Given the description of an element on the screen output the (x, y) to click on. 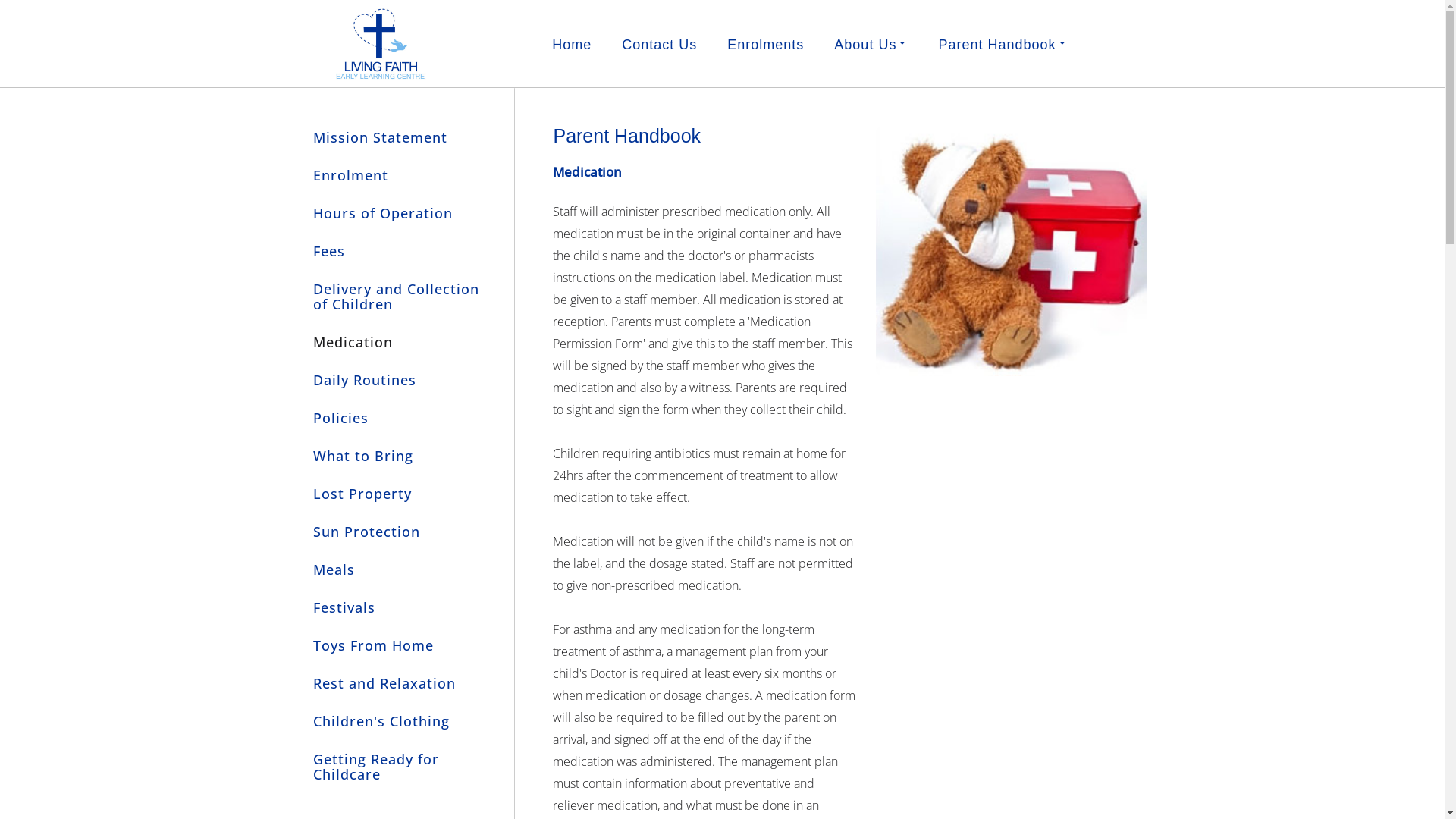
Policies Element type: text (396, 417)
Delivery and Collection of Children Element type: text (396, 296)
Enrolments Element type: text (765, 44)
Rest and Relaxation Element type: text (396, 683)
Sun Protection Element type: text (396, 531)
Toys From Home Element type: text (396, 645)
Getting Ready for Childcare Element type: text (396, 766)
Parent Handbook Element type: text (1002, 43)
Fees Element type: text (396, 250)
Medication Element type: text (396, 341)
Mission Statement Element type: text (396, 137)
Children's Clothing Element type: text (396, 721)
Contact Us Element type: text (659, 44)
What to Bring Element type: text (396, 455)
Lost Property Element type: text (396, 493)
Daily Routines Element type: text (396, 379)
Meals Element type: text (396, 569)
Festivals Element type: text (396, 607)
About Us Element type: text (870, 43)
Home Element type: text (571, 44)
Hours of Operation Element type: text (396, 213)
Enrolment Element type: text (396, 175)
